Given the description of an element on the screen output the (x, y) to click on. 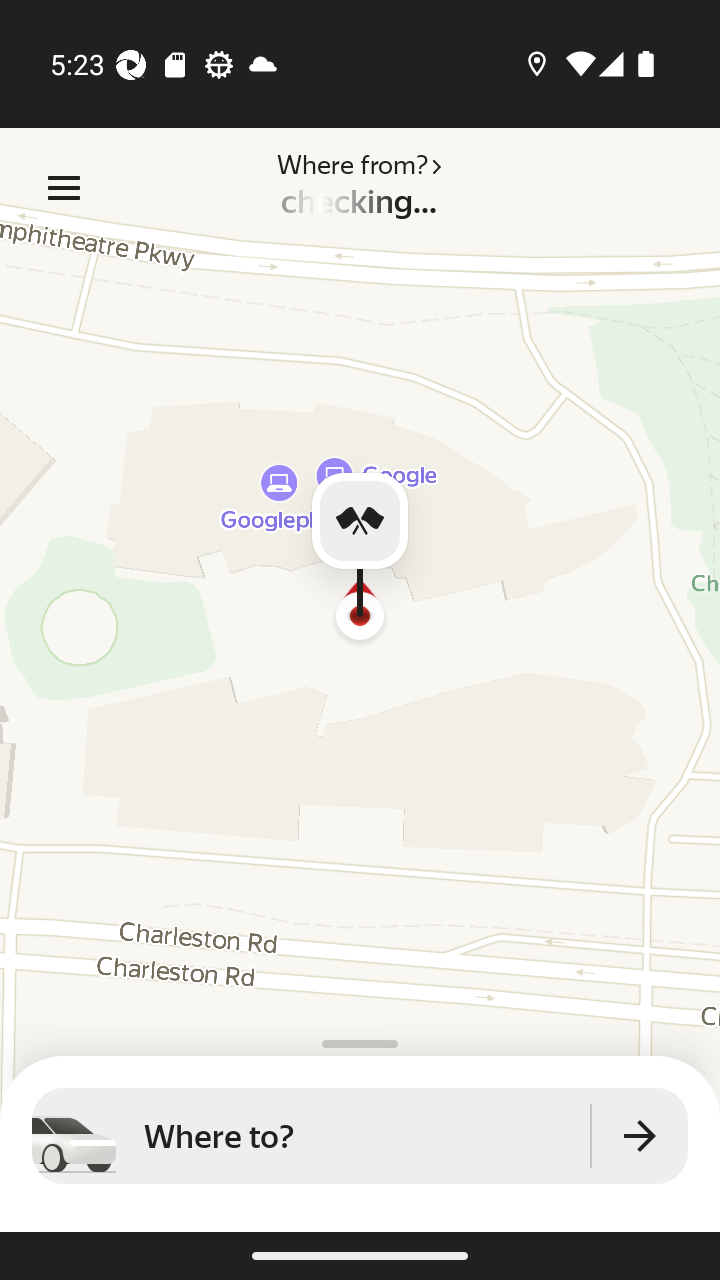
Menu Menu Menu (64, 188)
Where to? Where to? To the choice of address (359, 1136)
To the choice of address (639, 1136)
